Given the description of an element on the screen output the (x, y) to click on. 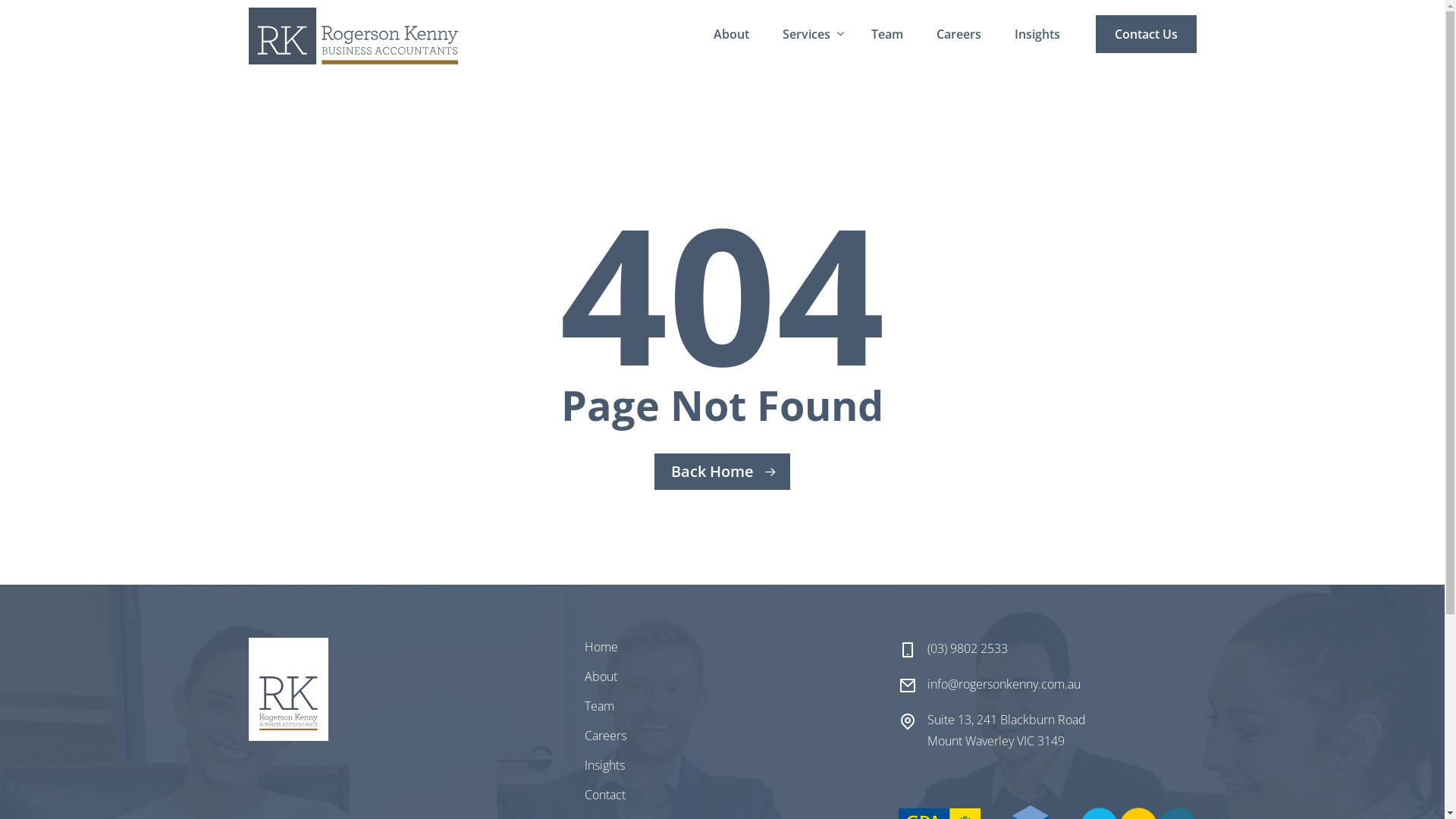
Insights Element type: text (604, 764)
(03) 9802 2533 Element type: text (967, 648)
About Element type: text (730, 33)
About Element type: text (600, 676)
Team Element type: text (886, 33)
Insights Element type: text (1036, 33)
Services Element type: text (809, 34)
Careers Element type: text (605, 735)
Team Element type: text (599, 705)
info@rogersonkenny.com.au Element type: text (1003, 684)
Back Home Element type: text (722, 471)
Contact Element type: text (604, 794)
Contact Us Element type: text (1145, 34)
Home Element type: text (601, 646)
Careers Element type: text (958, 33)
